Given the description of an element on the screen output the (x, y) to click on. 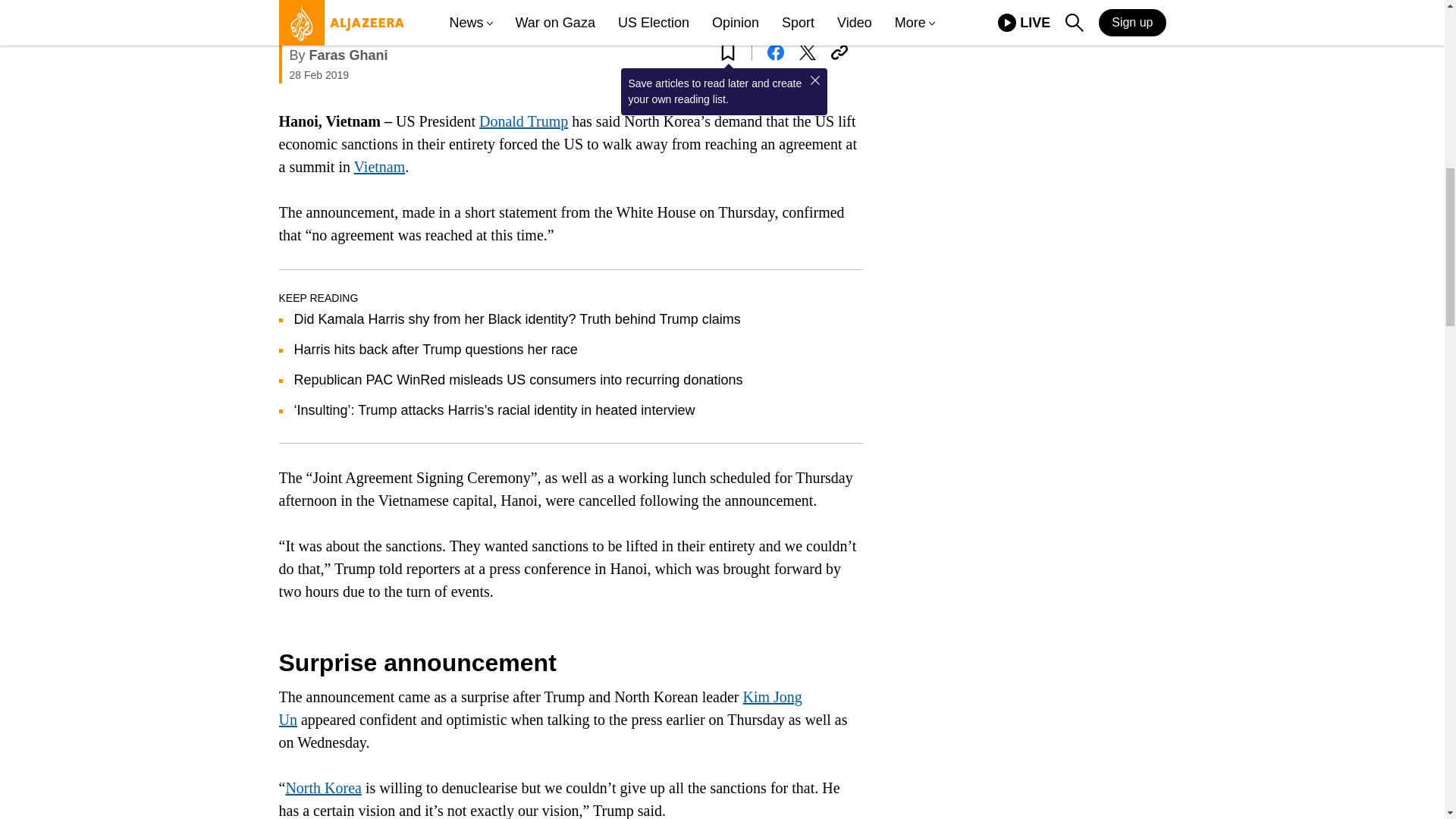
Faras Ghani (348, 55)
facebook (775, 52)
twitter (807, 52)
twitter (807, 52)
copylink (839, 52)
facebook (775, 52)
Close Tooltip (814, 79)
